Given the description of an element on the screen output the (x, y) to click on. 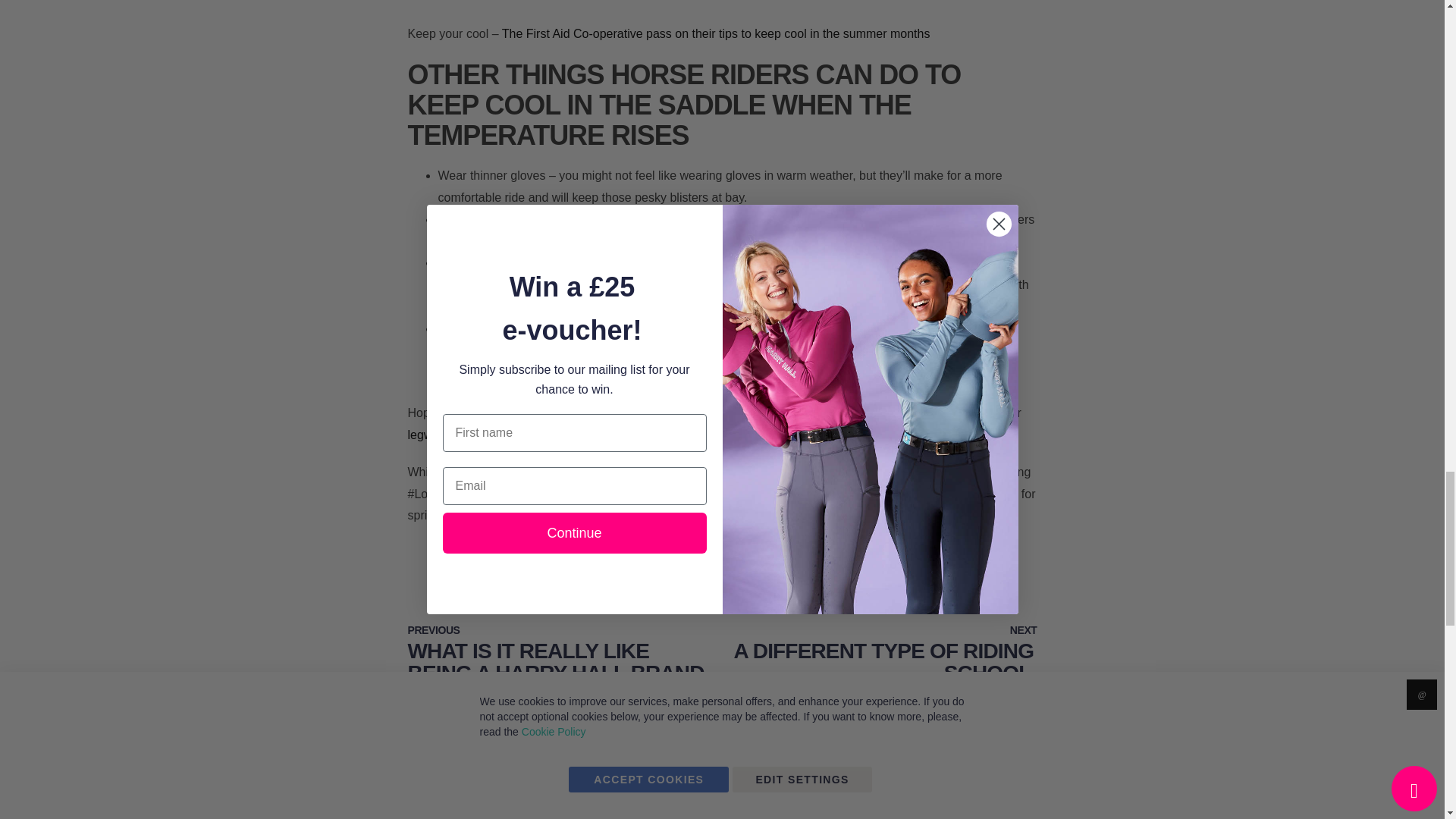
Read A different type of Riding School (879, 665)
